Given the description of an element on the screen output the (x, y) to click on. 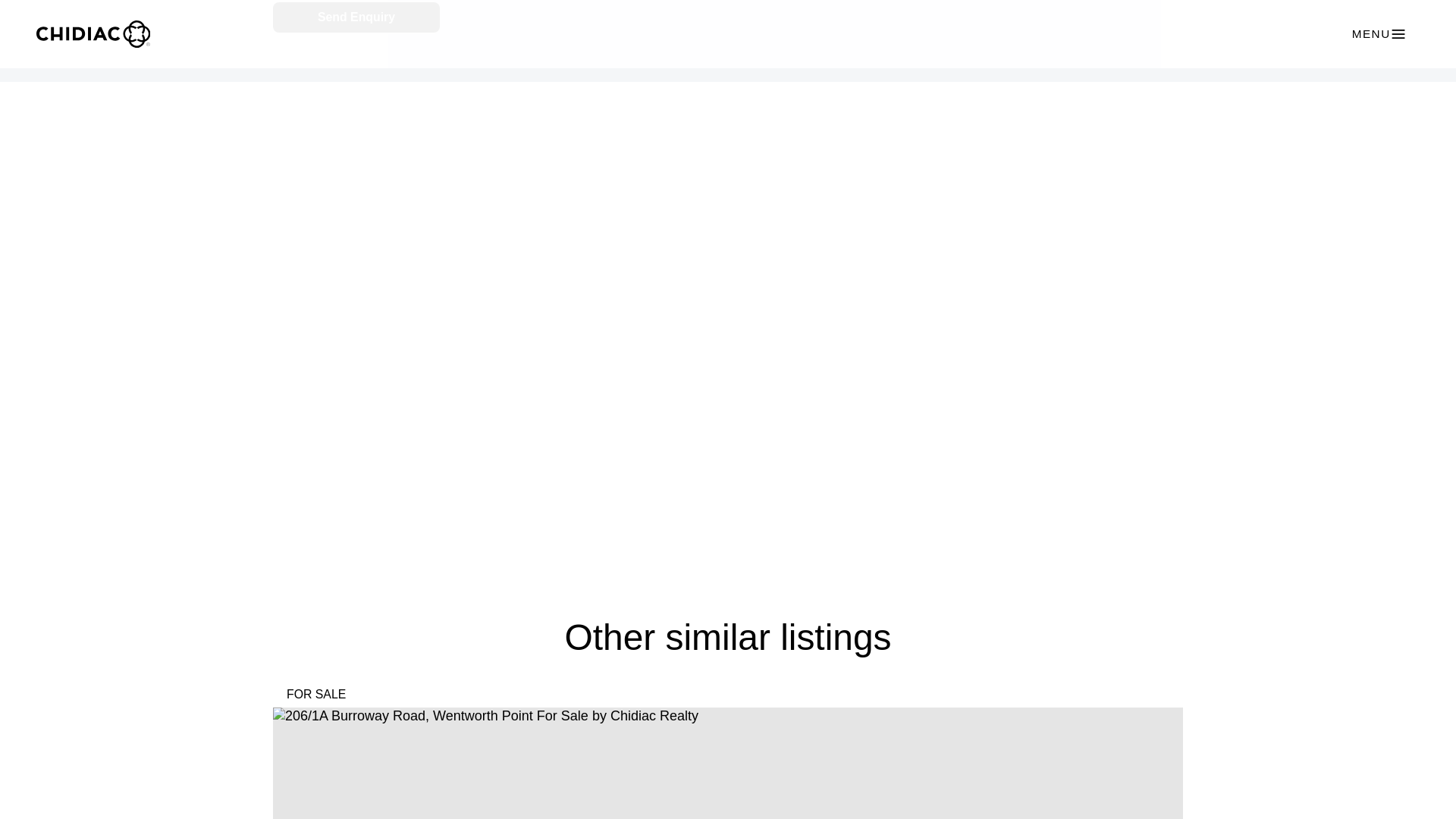
FOR SALE (316, 693)
Send Enquiry (356, 17)
